Given the description of an element on the screen output the (x, y) to click on. 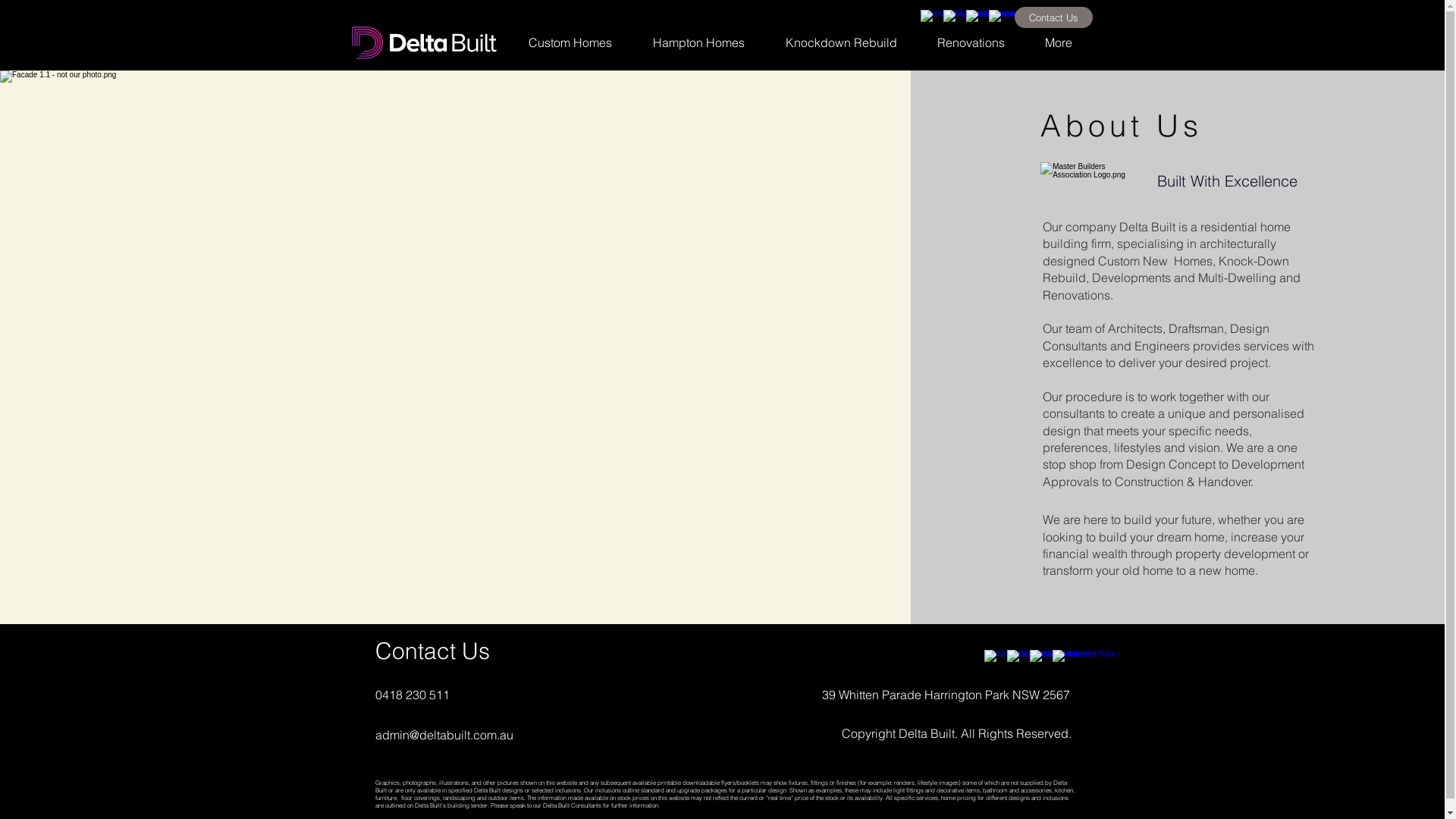
Hampton Homes Element type: text (698, 42)
Renovations Element type: text (971, 42)
Contact Us Element type: text (1053, 17)
Custom Homes Element type: text (570, 42)
admin@deltabuilt.com.au Element type: text (443, 734)
Knockdown Rebuild Element type: text (840, 42)
